Given the description of an element on the screen output the (x, y) to click on. 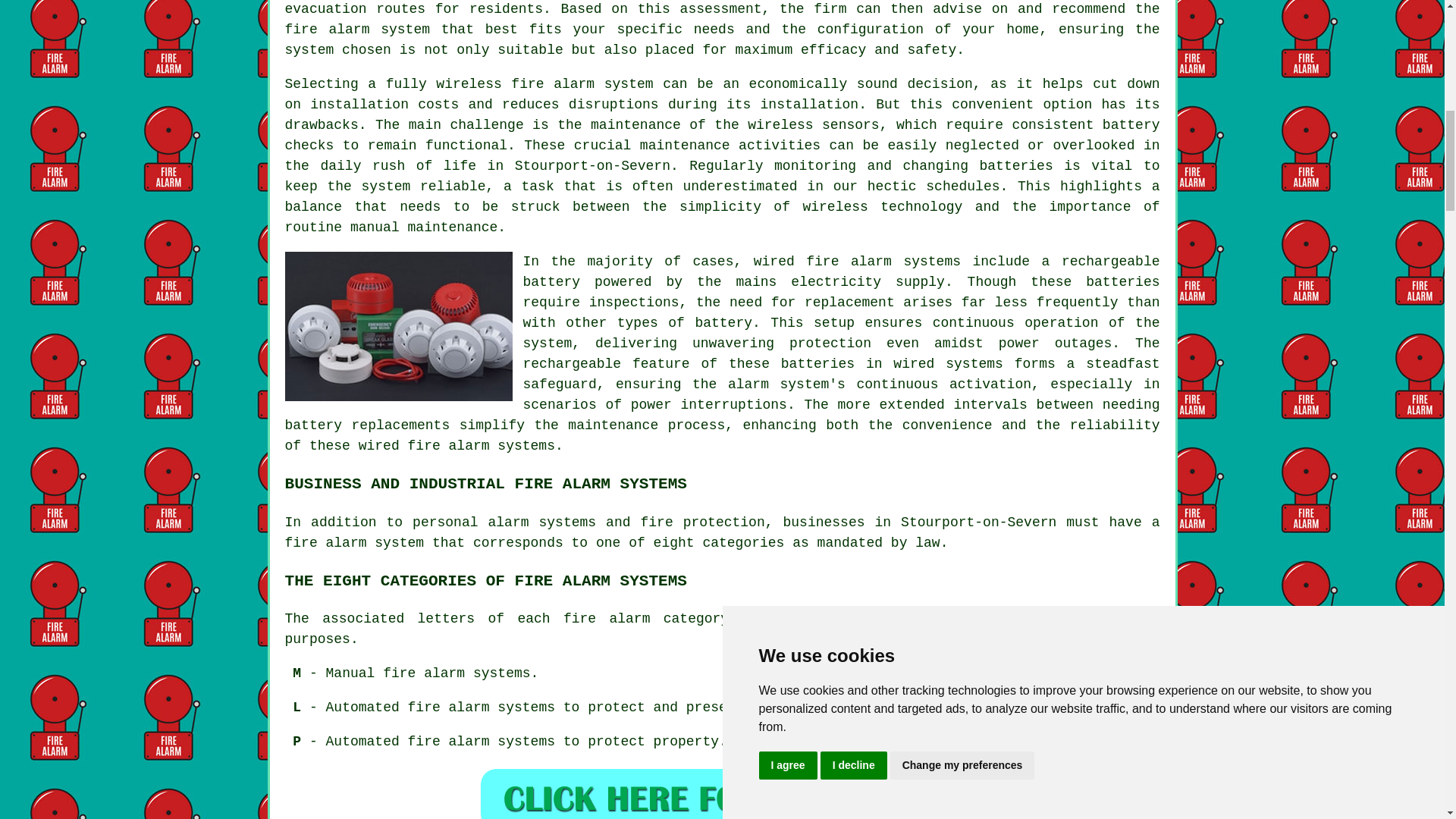
installation (359, 104)
fire alarm systems (480, 445)
